Given the description of an element on the screen output the (x, y) to click on. 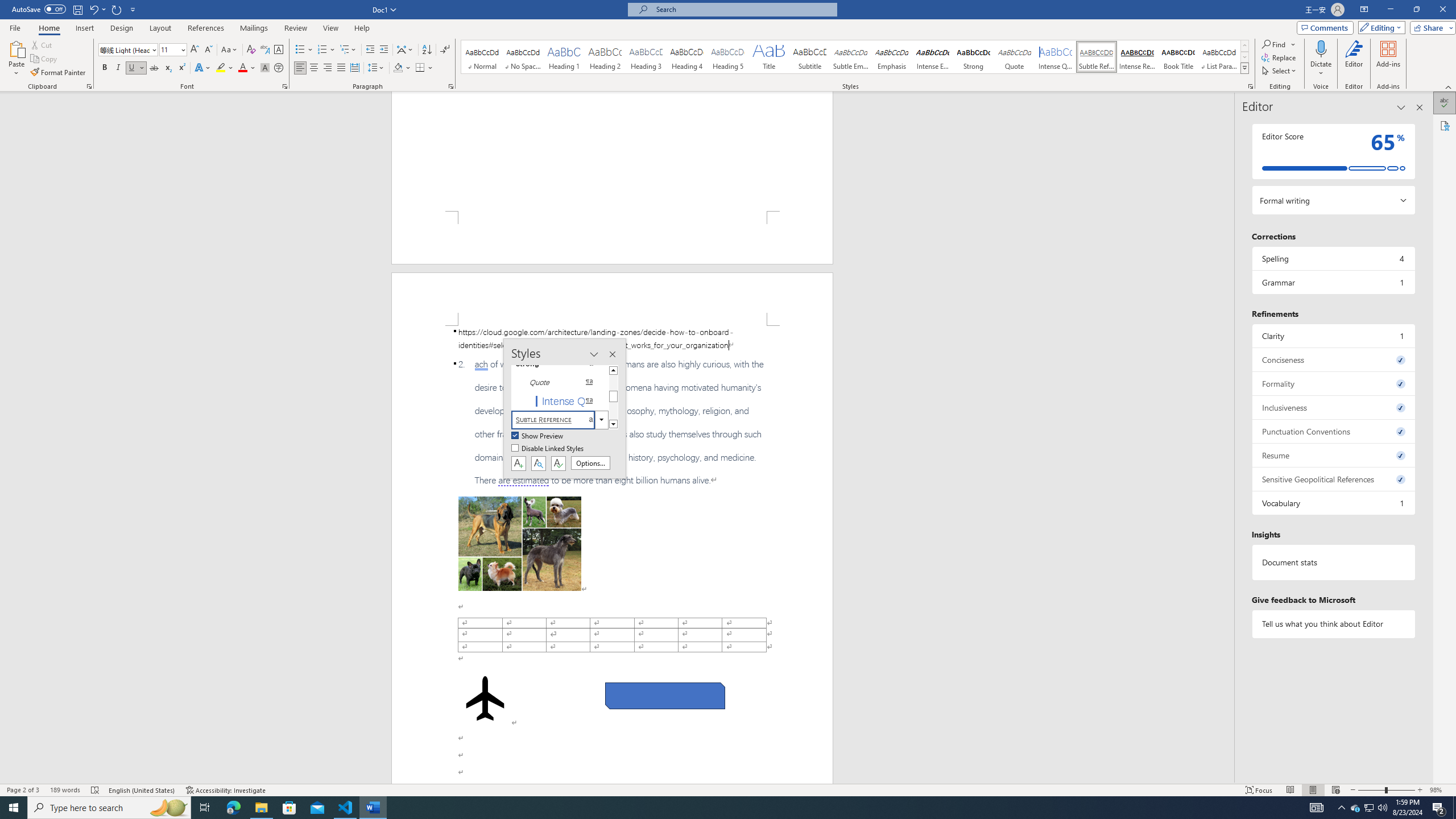
Editing (1379, 27)
Show/Hide Editing Marks (444, 49)
Clear Formatting (250, 49)
Zoom (1386, 790)
Rectangle: Diagonal Corners Snipped 2 (665, 695)
Multilevel List (347, 49)
Replace... (1279, 56)
